Given the description of an element on the screen output the (x, y) to click on. 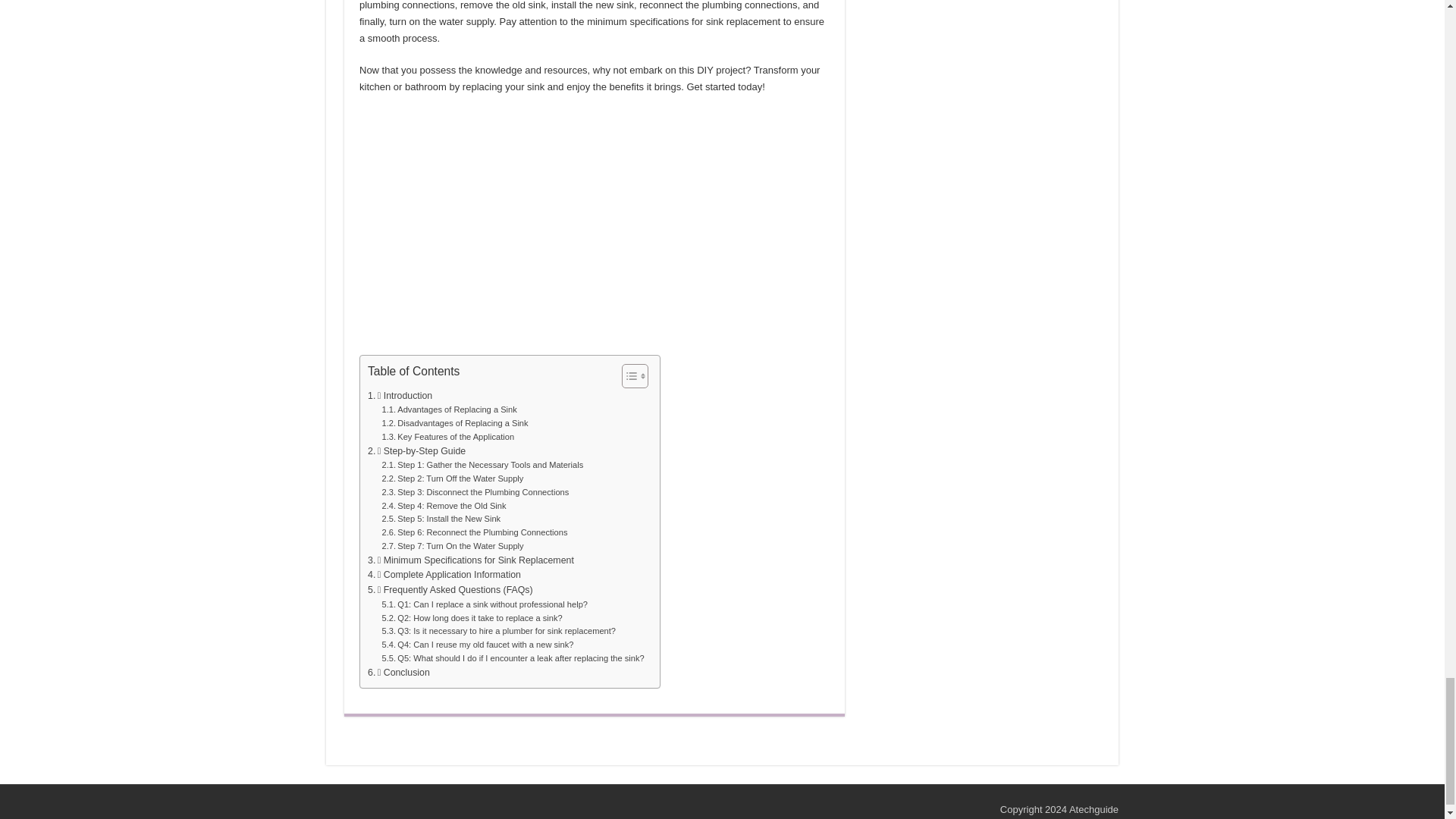
Advantages of Replacing a Sink (448, 409)
Disadvantages of Replacing a Sink (454, 423)
Step 2: Turn Off the Water Supply (452, 479)
Disadvantages of Replacing a Sink (454, 423)
Step 6: Reconnect the Plumbing Connections (474, 532)
Step 1: Gather the Necessary Tools and Materials (482, 465)
Key Features of the Application (448, 437)
Step 1: Gather the Necessary Tools and Materials (482, 465)
Q2: How long does it take to replace a sink? (471, 618)
